Given the description of an element on the screen output the (x, y) to click on. 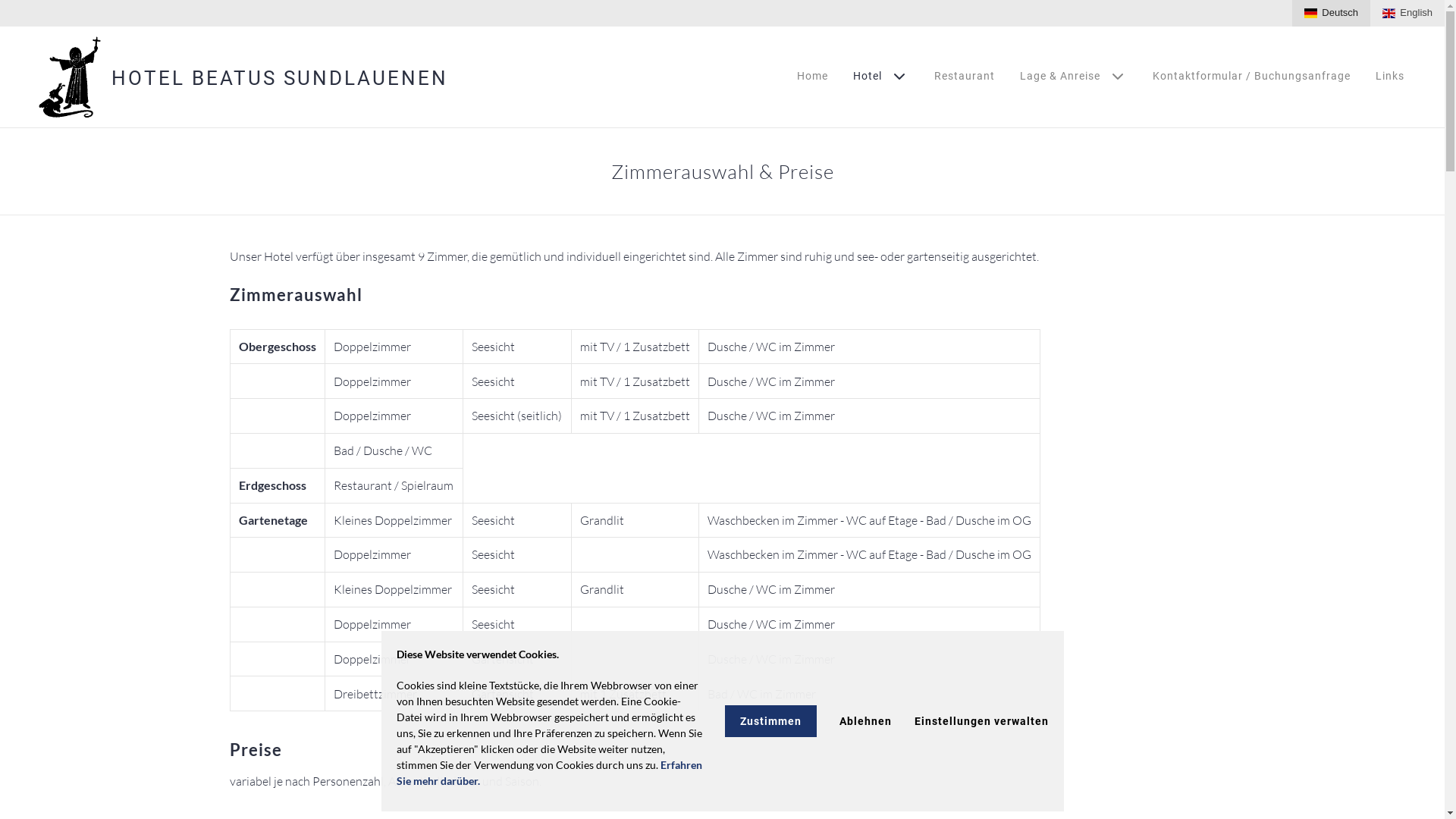
Kontaktformular / Buchungsanfrage Element type: text (1251, 75)
Restaurant Element type: text (964, 75)
HOTEL BEATUS SUNDLAUENEN Element type: text (279, 77)
Zustimmen Element type: text (770, 721)
Deutsch Element type: text (1331, 13)
Ablehnen Element type: text (864, 721)
Einstellungen verwalten Element type: text (981, 721)
Home Element type: text (812, 75)
Links Element type: text (1389, 75)
logo Element type: hover (65, 76)
English Element type: text (1407, 13)
